Given the description of an element on the screen output the (x, y) to click on. 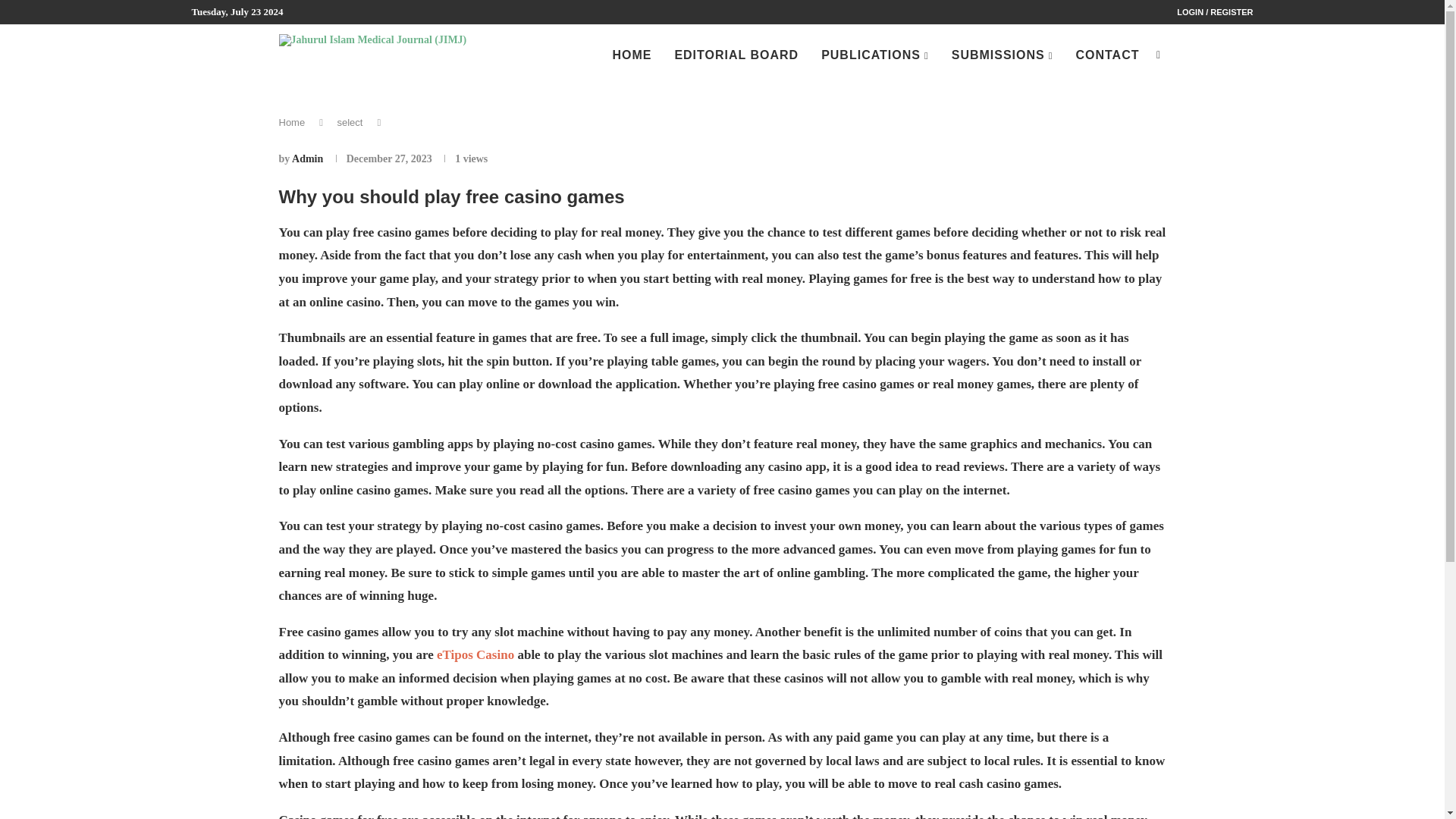
SUBMISSIONS (1002, 55)
eTipos Casino (474, 654)
select (349, 122)
Home (292, 122)
EDITORIAL BOARD (735, 55)
Admin (307, 158)
PUBLICATIONS (874, 55)
CONTACT (1106, 55)
